Given the description of an element on the screen output the (x, y) to click on. 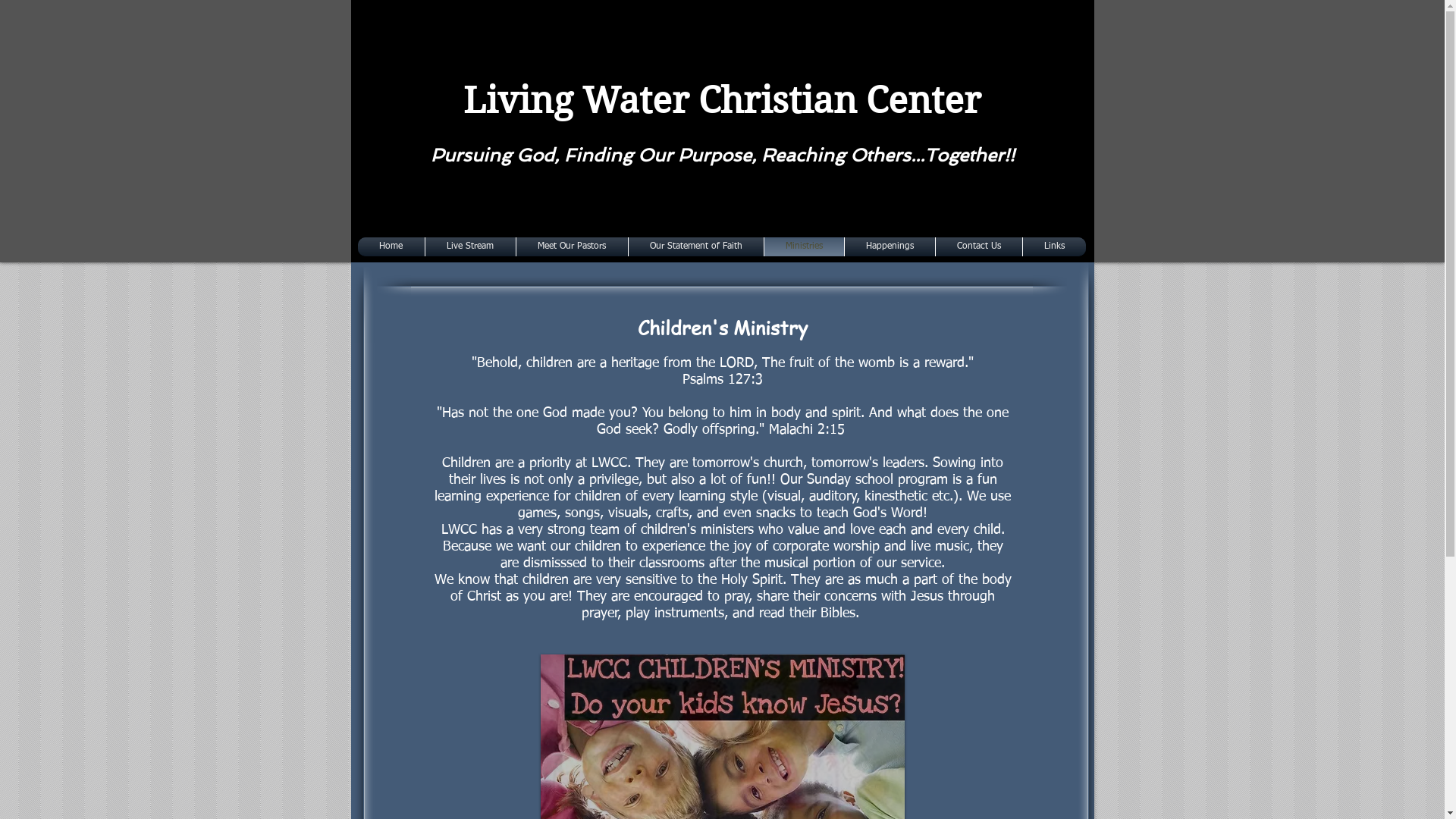
Home Element type: text (390, 246)
Meet Our Pastors Element type: text (572, 246)
Contact Us Element type: text (977, 246)
Our Statement of Faith Element type: text (695, 246)
Ministries Element type: text (803, 246)
Live Stream Element type: text (470, 246)
Happenings Element type: text (888, 246)
